Given the description of an element on the screen output the (x, y) to click on. 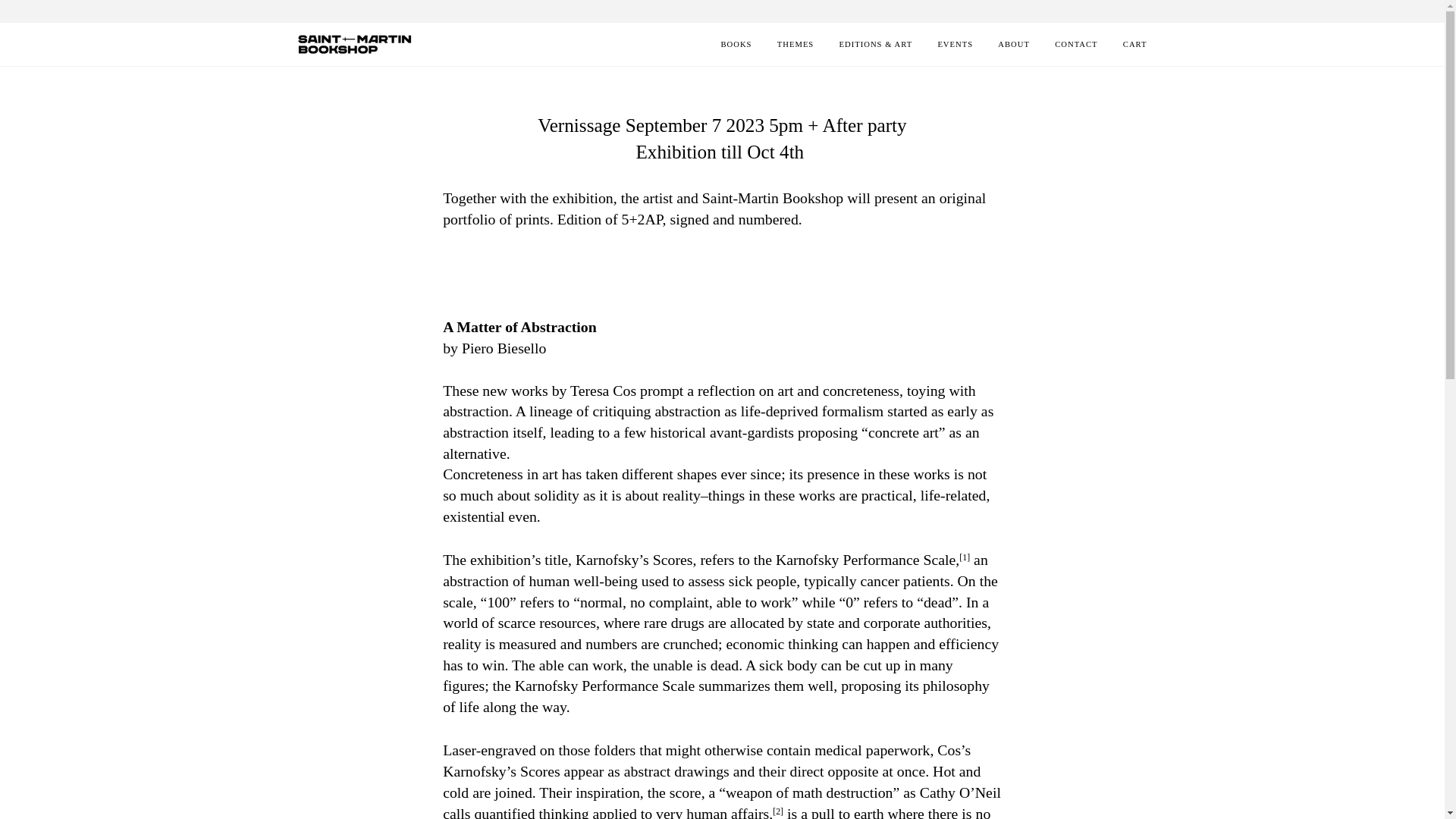
EVENTS (943, 44)
THEMES (783, 44)
BOOKS (732, 44)
Search (1137, 11)
